Given the description of an element on the screen output the (x, y) to click on. 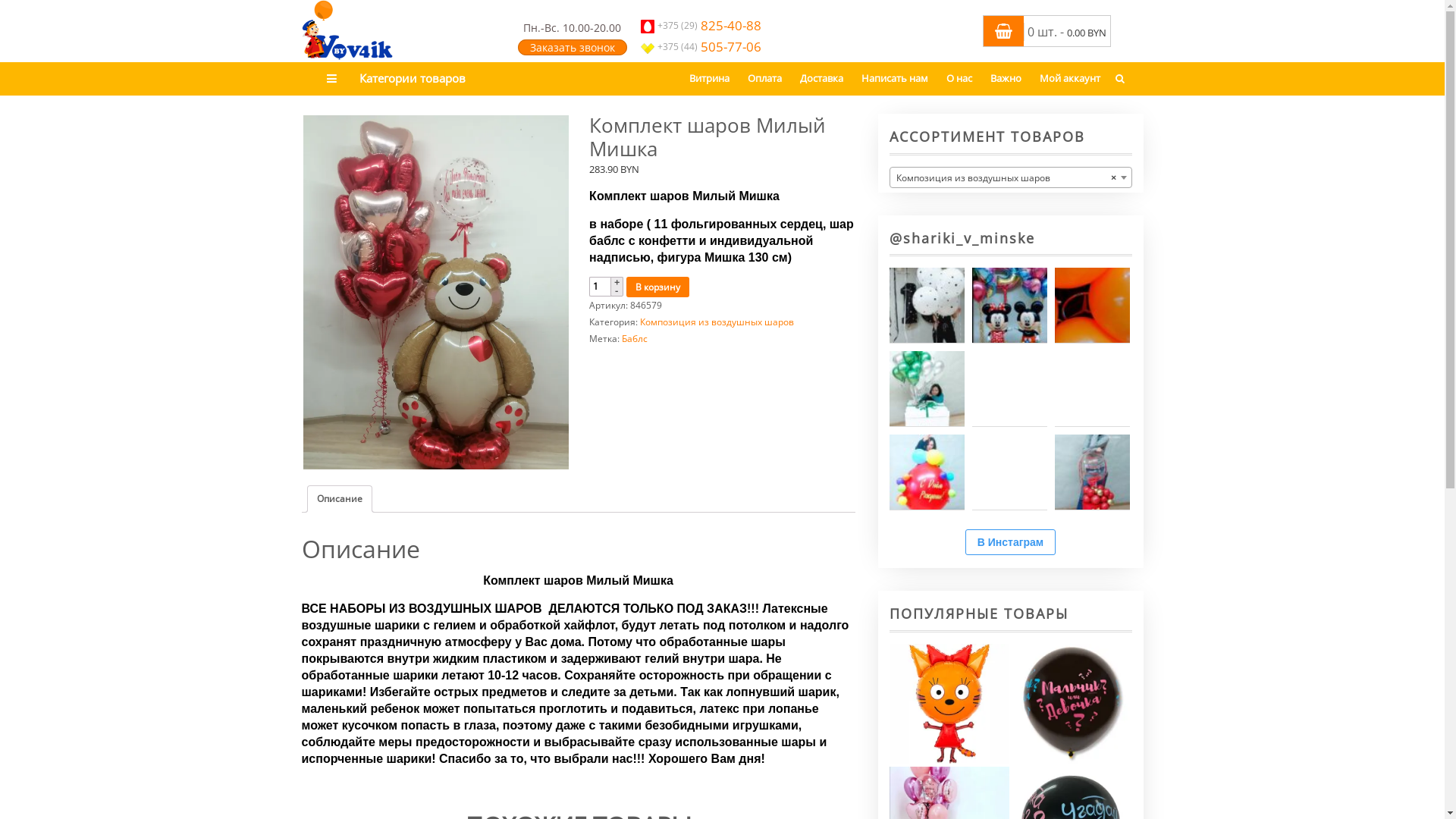
+375 (29) 825-40-88 Element type: text (700, 25)
+375 (44) 505-77-06 Element type: text (700, 46)
